Given the description of an element on the screen output the (x, y) to click on. 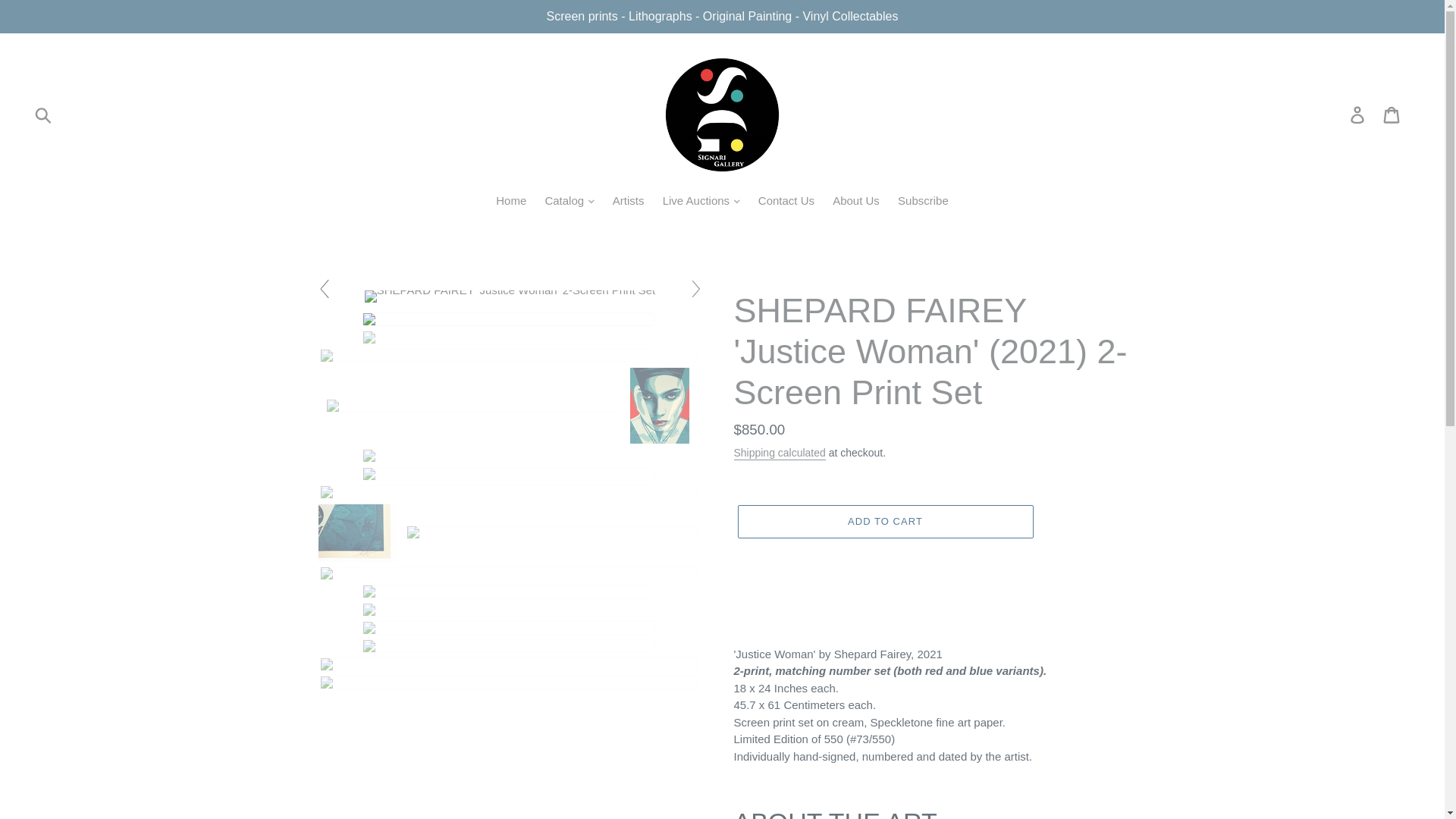
SHEPARD FAIREY 'Justice Woman' 2-Screen Print Set (473, 405)
SHEPARD FAIREY 'Justice Woman' 2-Screen Print Set (510, 627)
SHEPARD FAIREY 'Justice Woman' 2-Screen Print Set (510, 473)
SHEPARD FAIREY 'Justice Woman' 2-Screen Print Set (510, 337)
SHEPARD FAIREY 'Justice Woman' 2-Screen Print Set (510, 318)
SHEPARD FAIREY 'Justice Woman' 2-Screen Print Set (554, 532)
SHEPARD FAIREY 'Justice Woman' 2-Screen Print Set (510, 645)
Home (510, 202)
SHEPARD FAIREY 'Justice Woman' 2-Screen Print Set (510, 289)
Submit (44, 114)
